Given the description of an element on the screen output the (x, y) to click on. 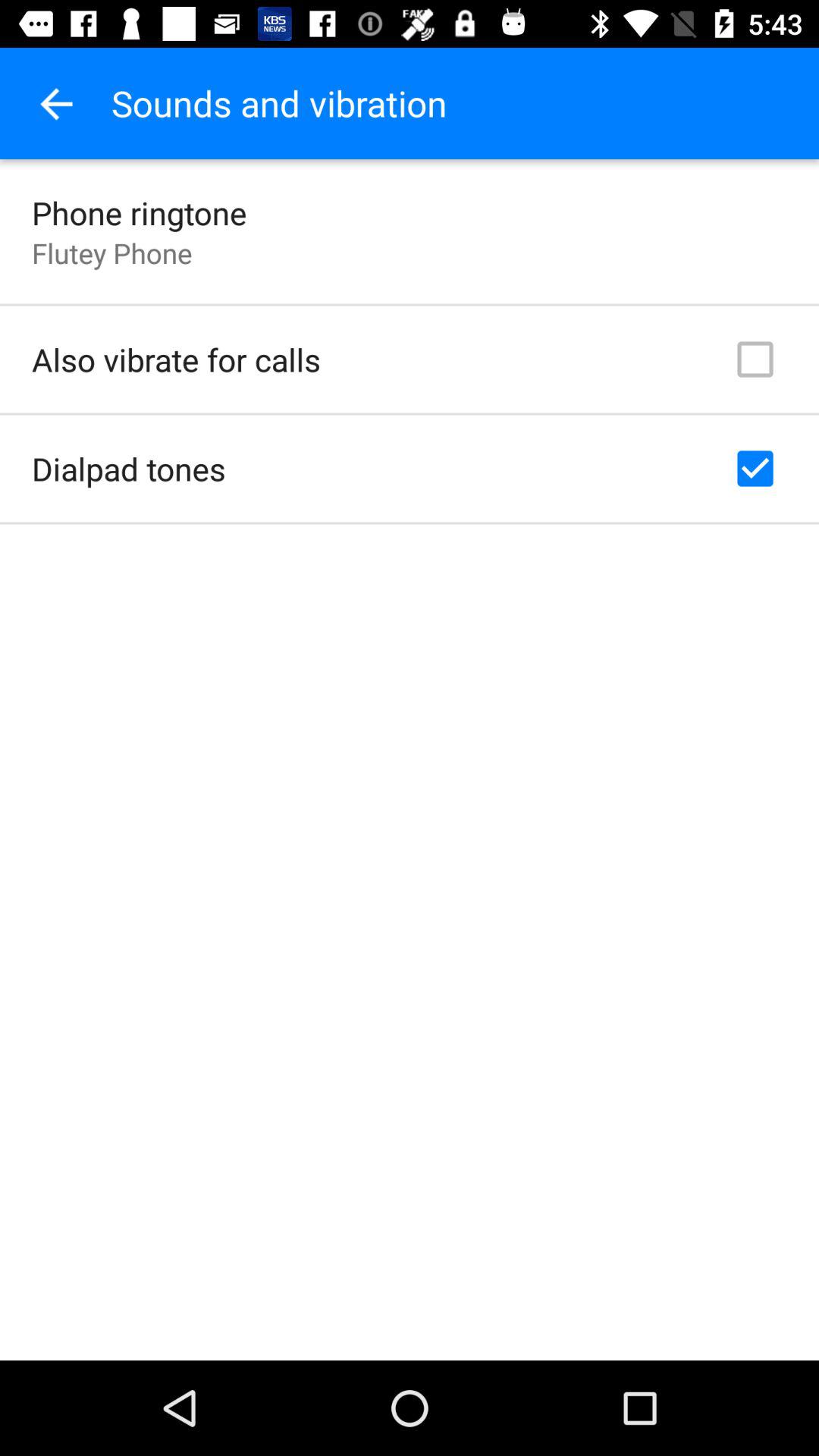
turn off the phone ringtone icon (138, 212)
